Given the description of an element on the screen output the (x, y) to click on. 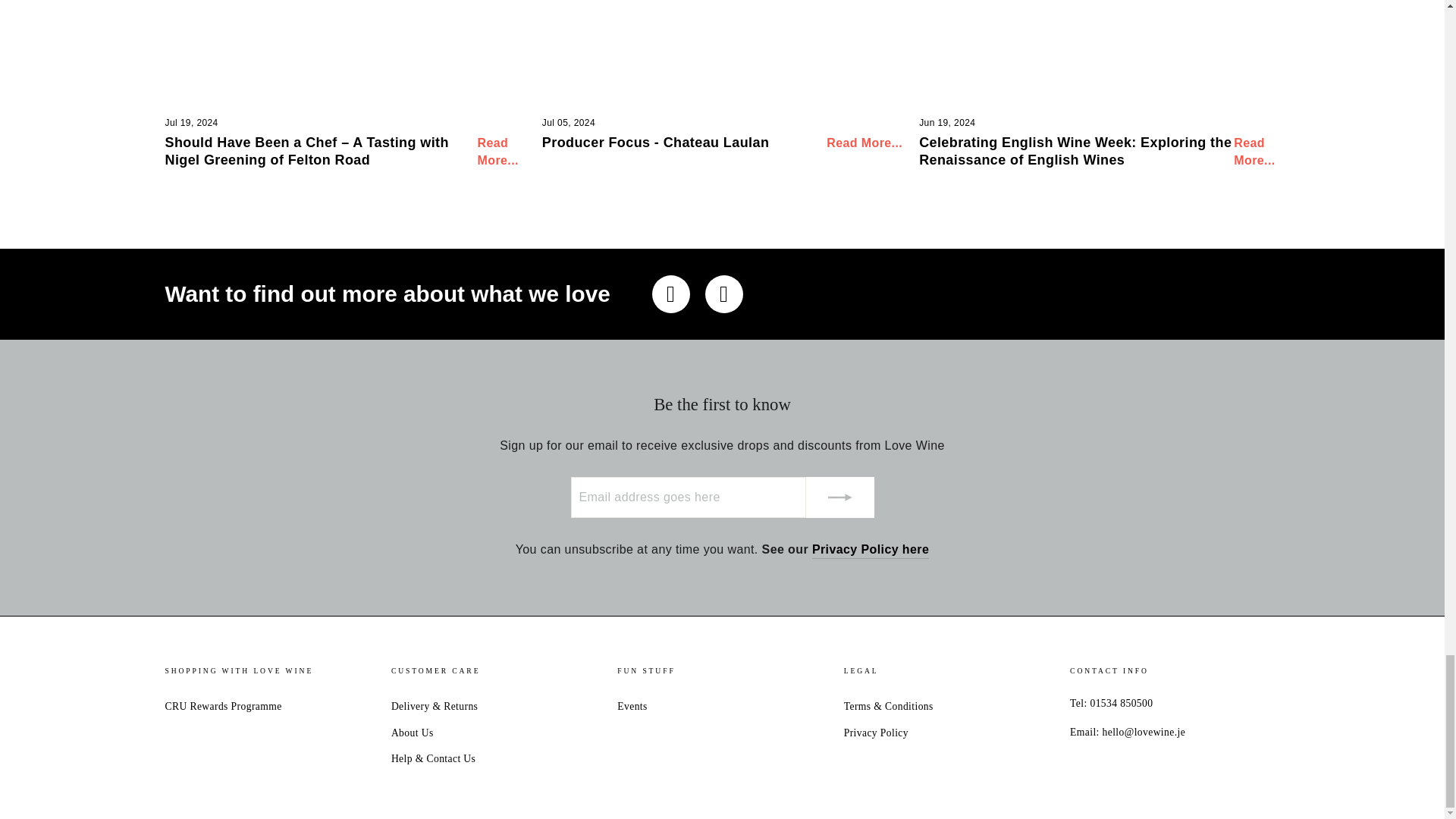
Privacy Policy (870, 549)
